Given the description of an element on the screen output the (x, y) to click on. 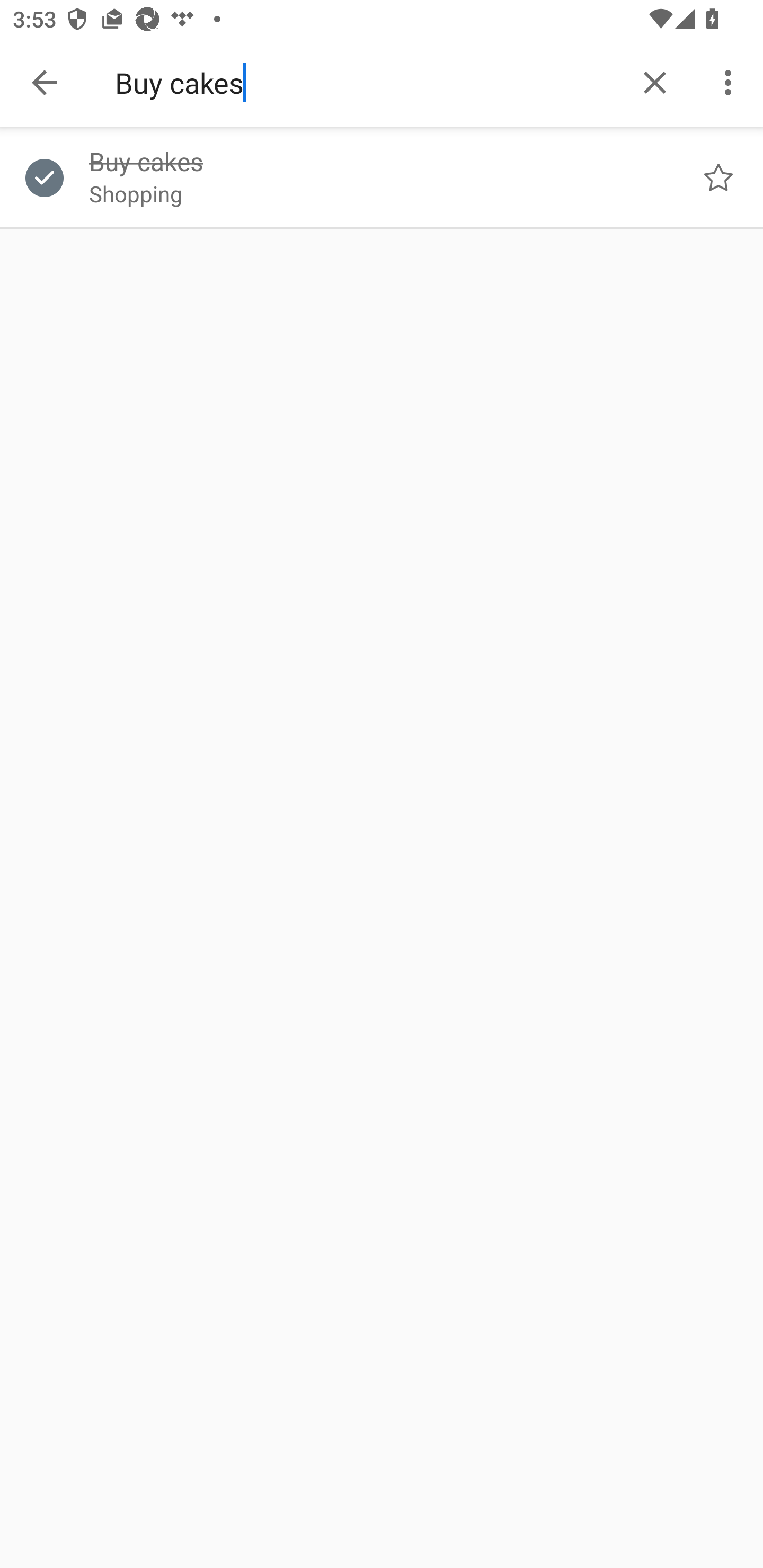
Navigate up (44, 82)
